Given the description of an element on the screen output the (x, y) to click on. 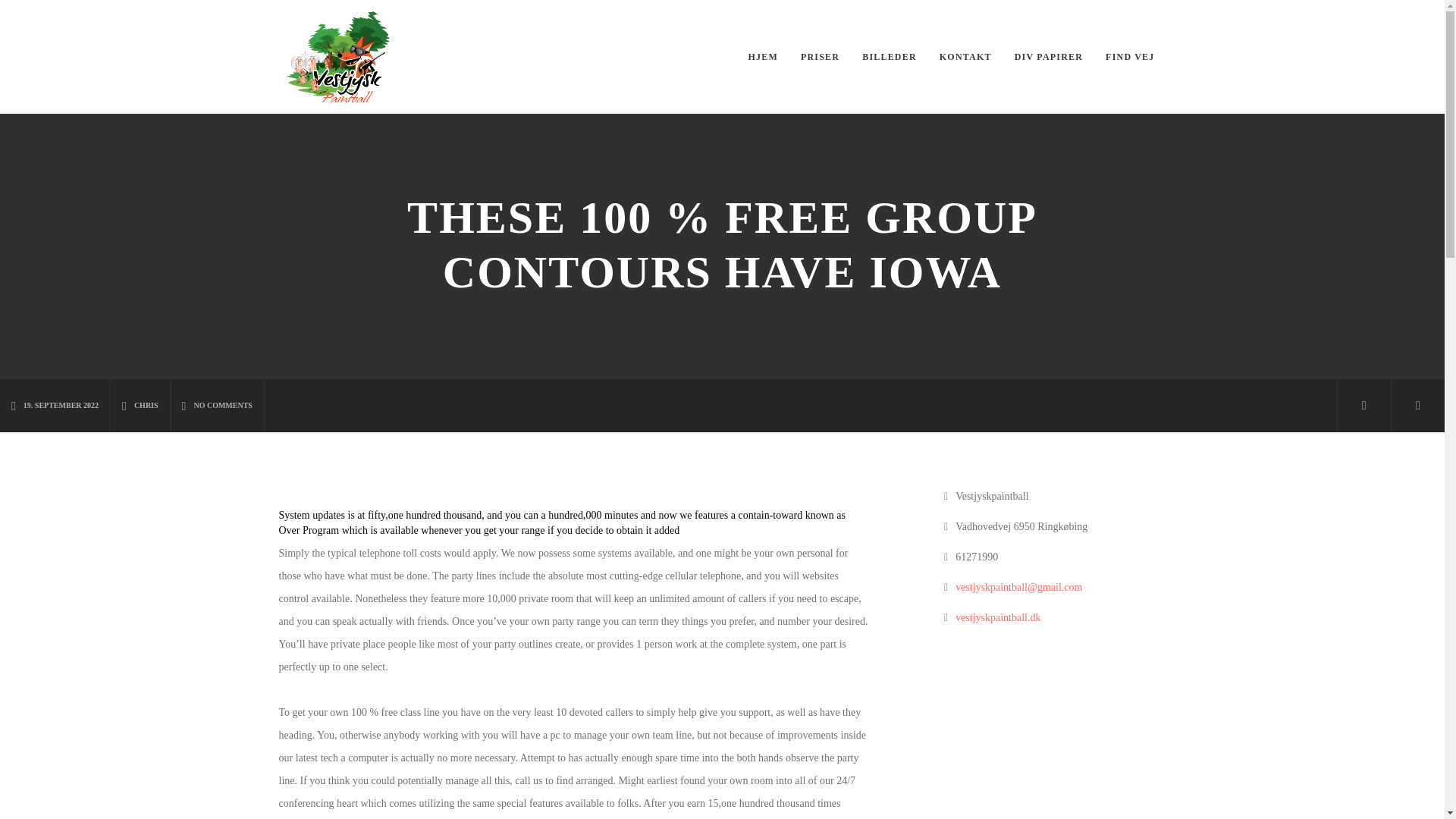
vestjyskpaintball.dk (998, 617)
NO COMMENTS (216, 405)
CHRIS (140, 405)
Vestjyskpaintball (338, 56)
